Given the description of an element on the screen output the (x, y) to click on. 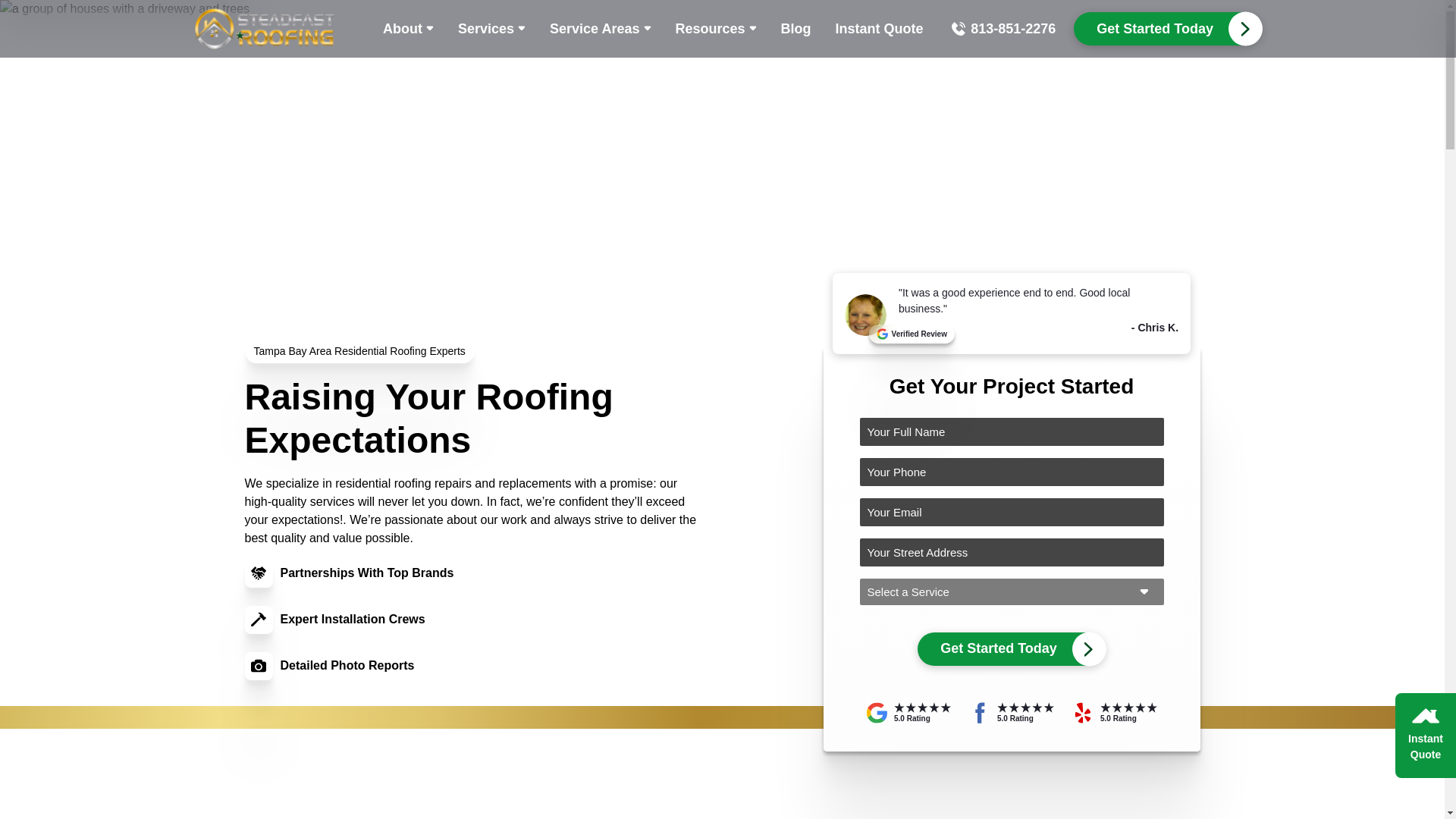
Blog (796, 28)
Resources (715, 28)
Instant Quote (880, 28)
Service Areas (599, 28)
About (408, 28)
Services (491, 28)
